Given the description of an element on the screen output the (x, y) to click on. 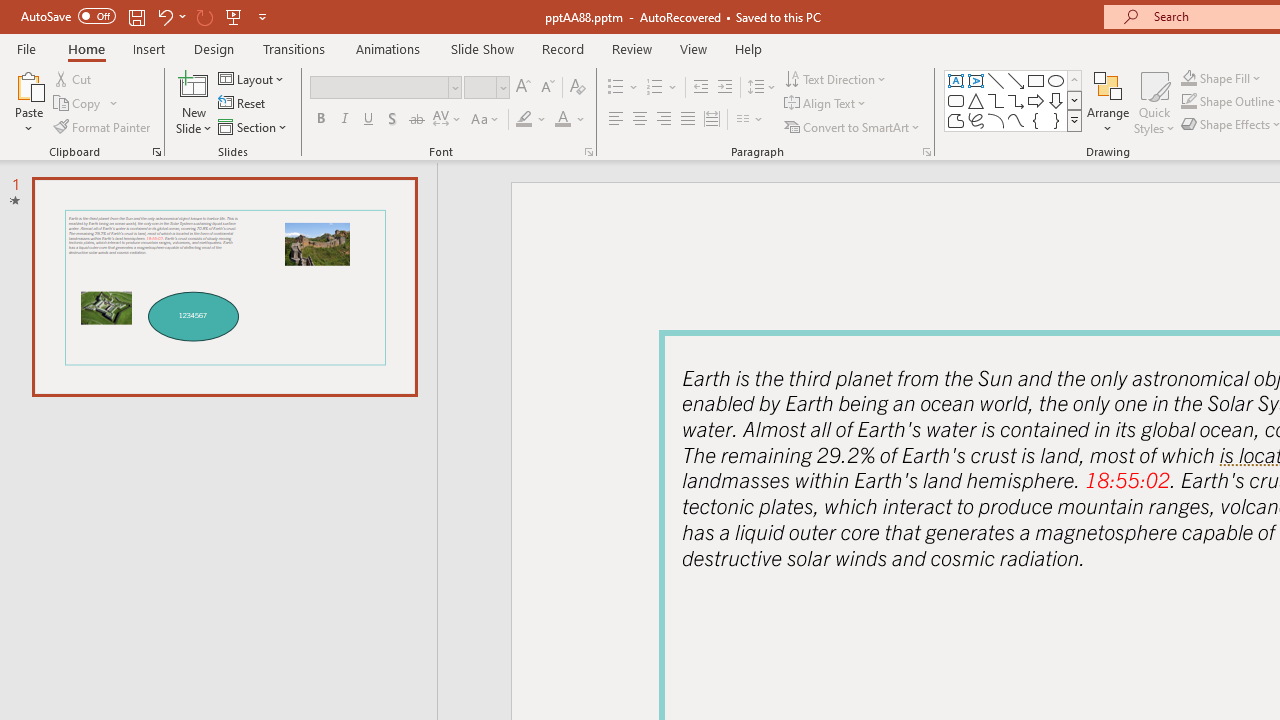
Connector: Elbow (995, 100)
Decrease Indent (700, 87)
Oval (1055, 80)
Office Clipboard... (156, 151)
Layout (252, 78)
Section (254, 126)
Line Spacing (762, 87)
Increase Indent (725, 87)
Line (995, 80)
